Given the description of an element on the screen output the (x, y) to click on. 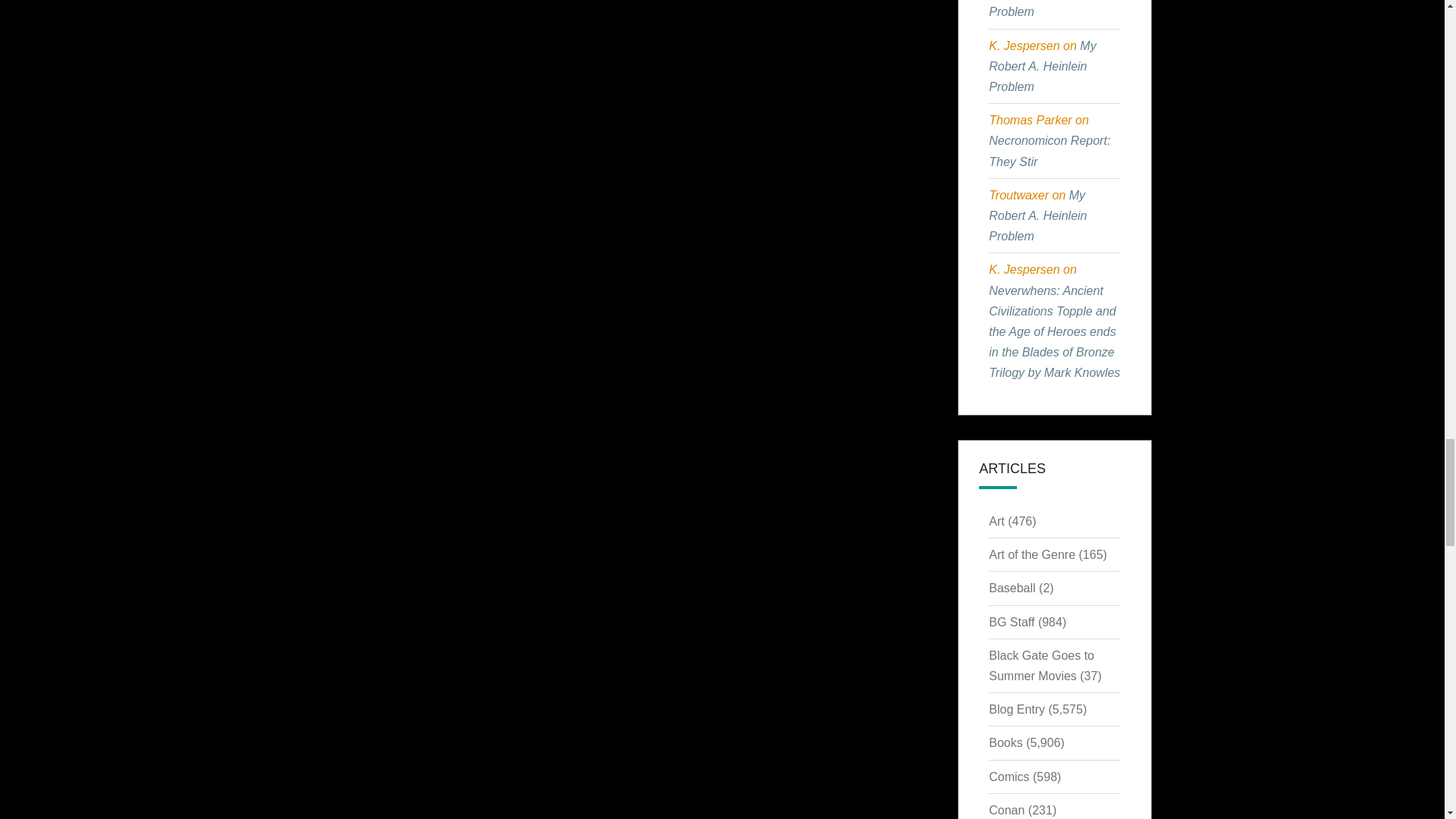
Baseball (1011, 587)
Art of the Genre (1031, 554)
Black Gate Goes to Summer Movies (1041, 665)
Blog Entry (1016, 708)
Comics (1008, 776)
My Robert A. Heinlein Problem (1037, 215)
Art (996, 521)
Books (1005, 742)
Necronomicon Report: They Stir (1048, 150)
